Given the description of an element on the screen output the (x, y) to click on. 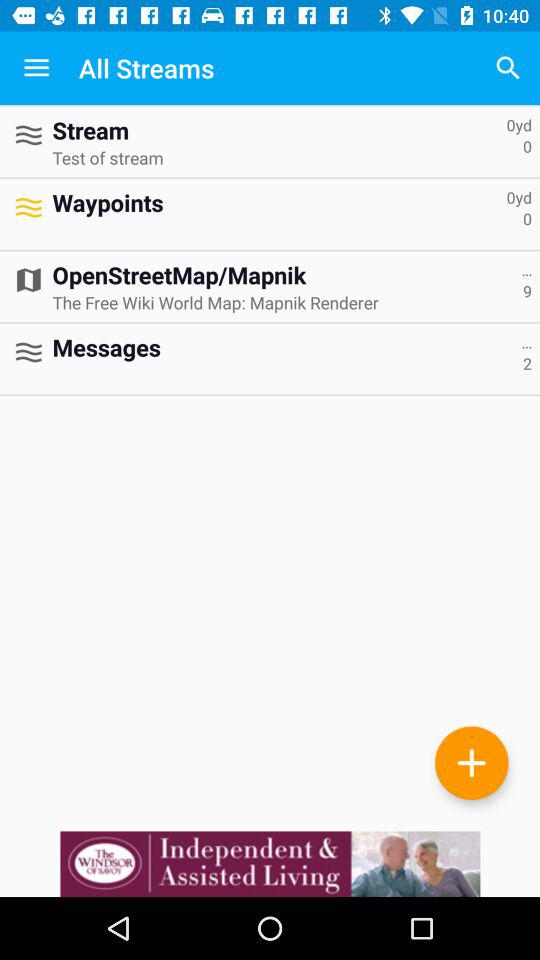
more options (471, 762)
